Given the description of an element on the screen output the (x, y) to click on. 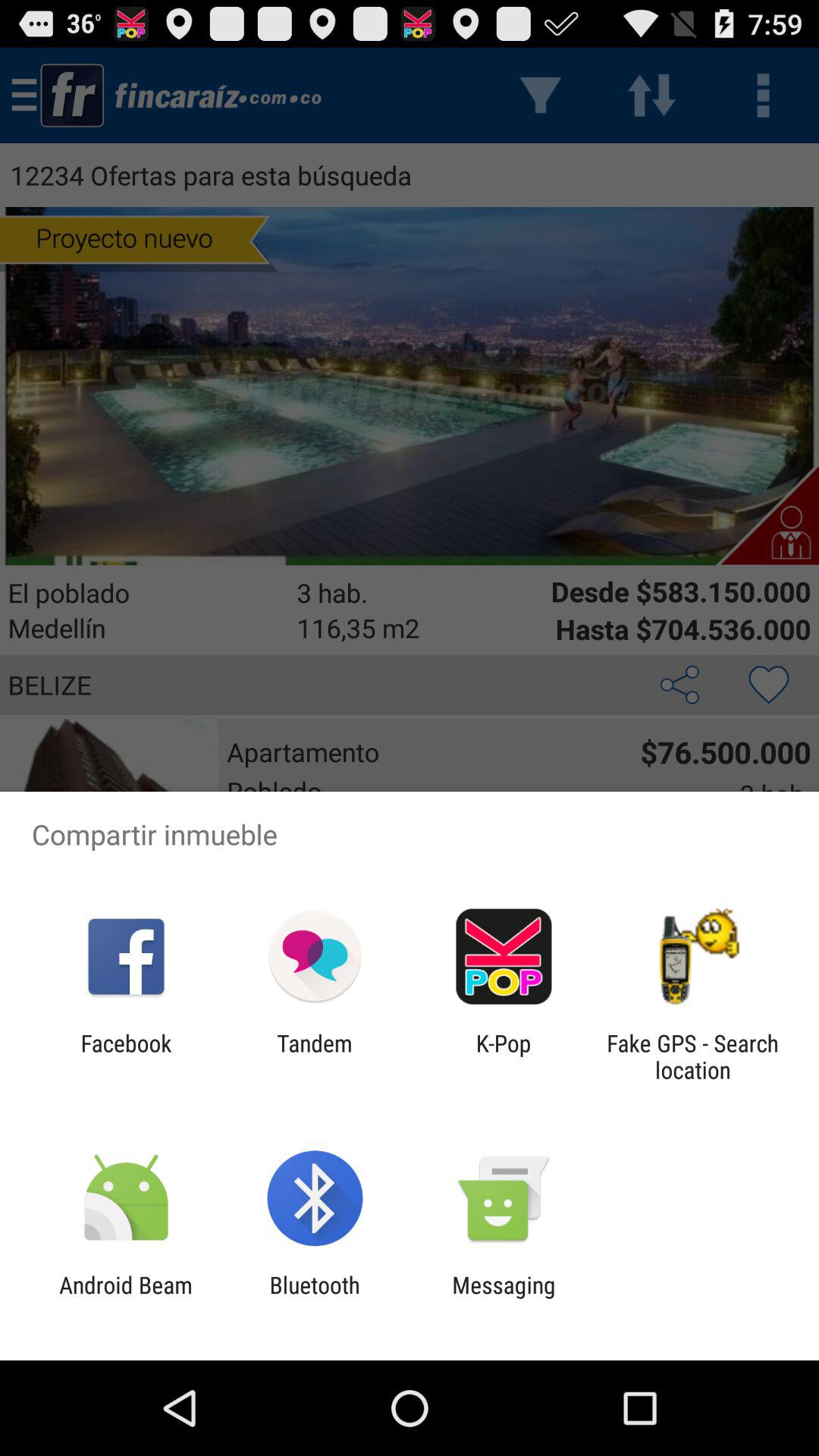
turn on android beam app (125, 1298)
